Given the description of an element on the screen output the (x, y) to click on. 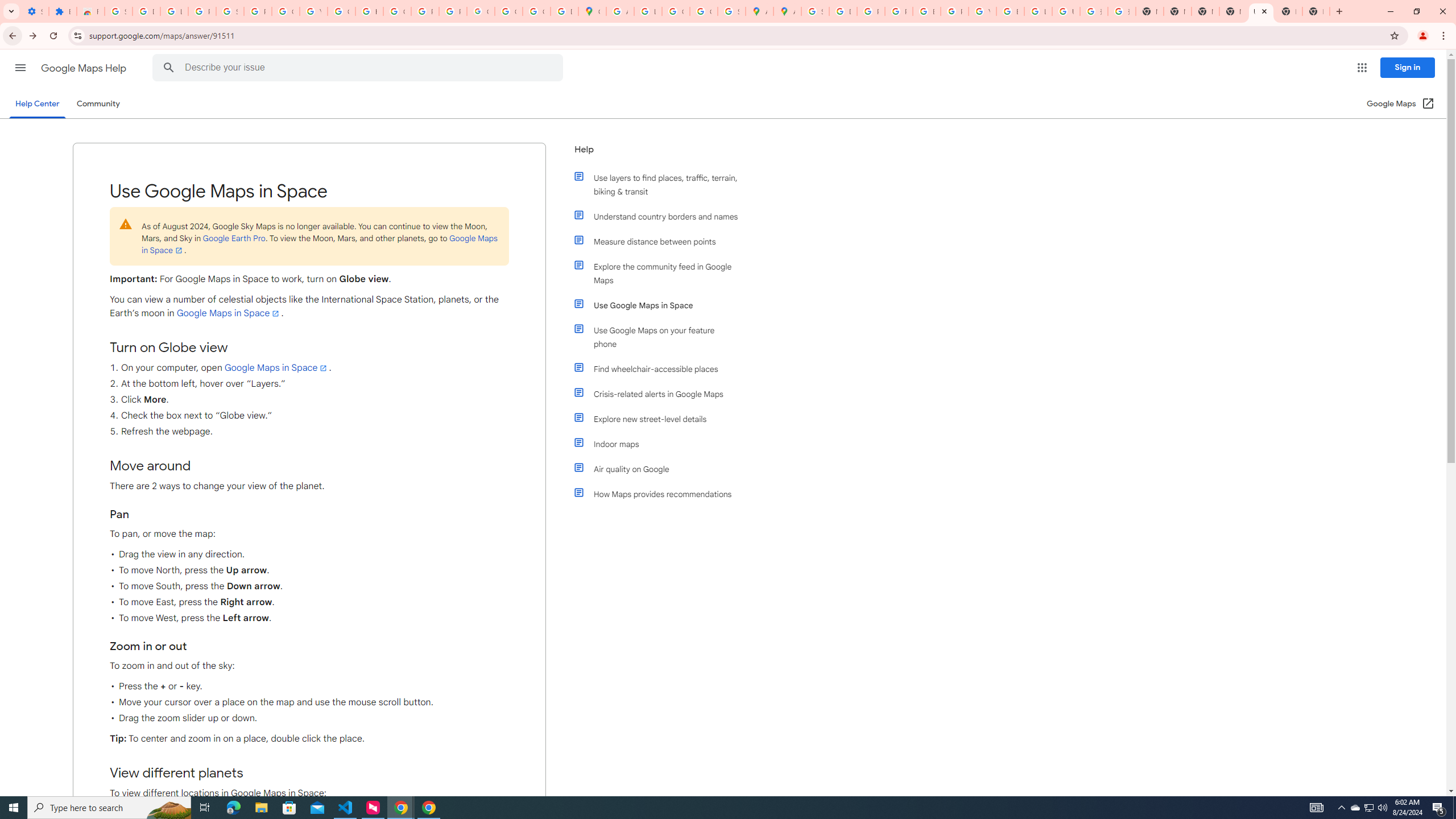
Google Earth Pro (233, 238)
New Tab (1316, 11)
Settings - On startup (34, 11)
